Given the description of an element on the screen output the (x, y) to click on. 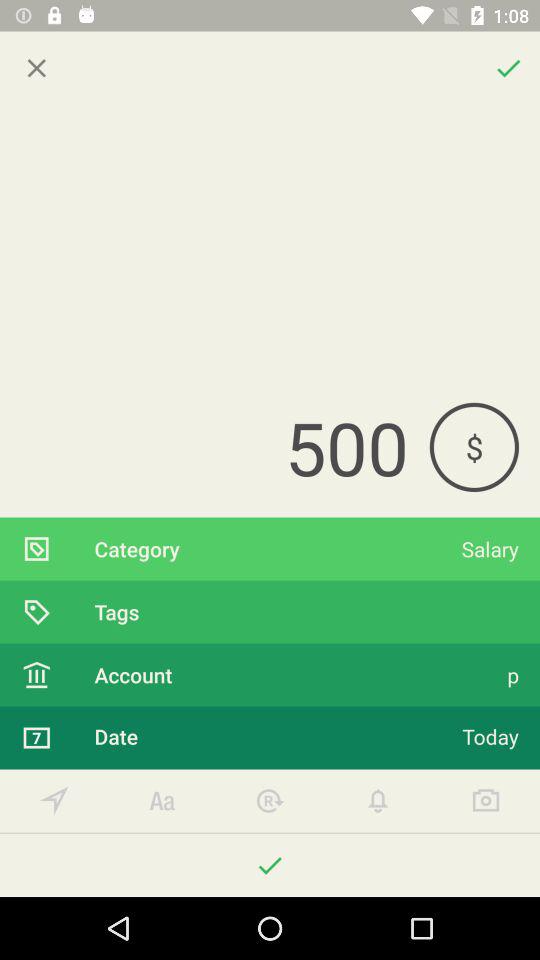
show location on map (54, 800)
